Given the description of an element on the screen output the (x, y) to click on. 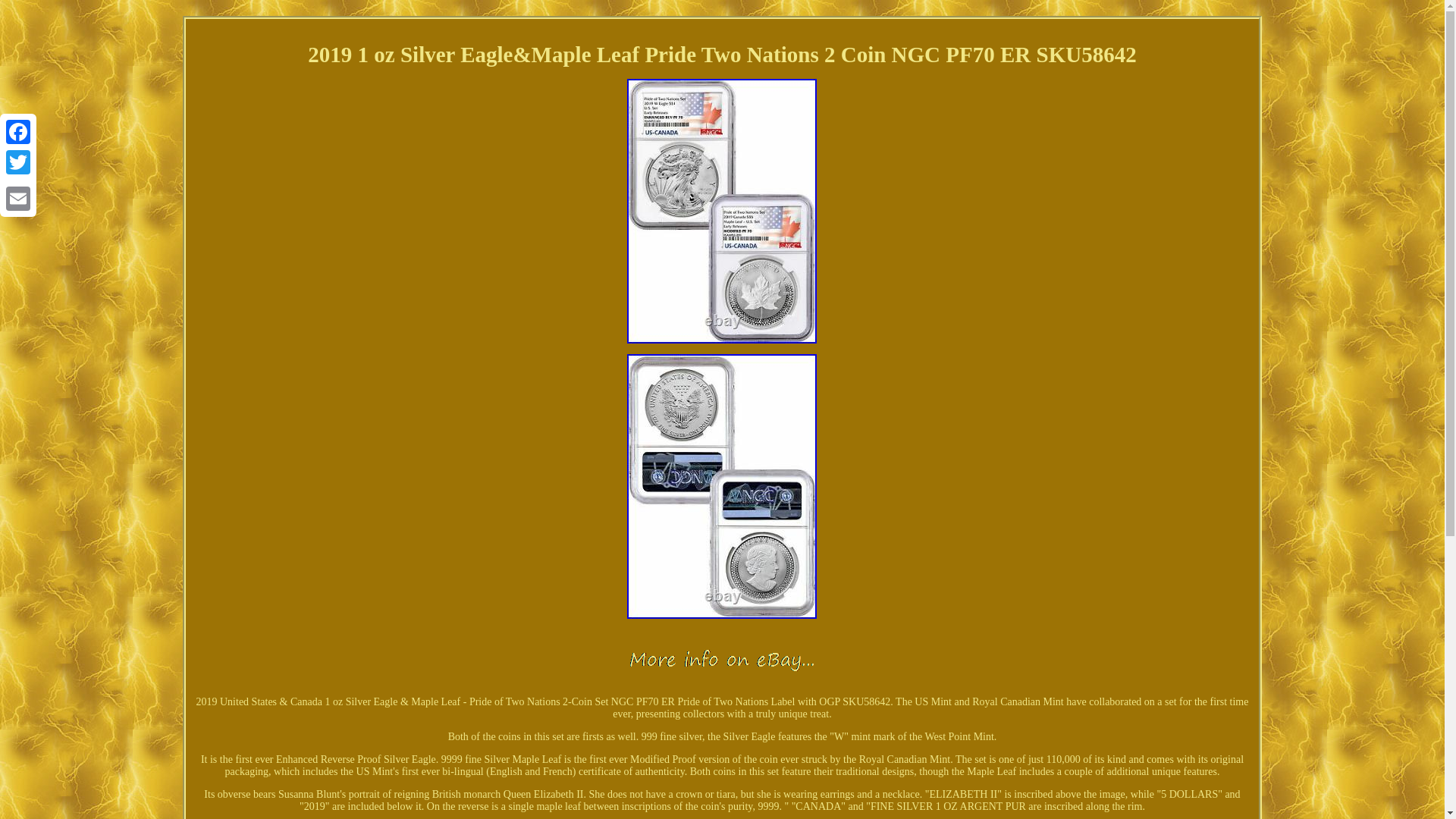
Twitter (17, 162)
Email (17, 198)
Facebook (17, 132)
